Given the description of an element on the screen output the (x, y) to click on. 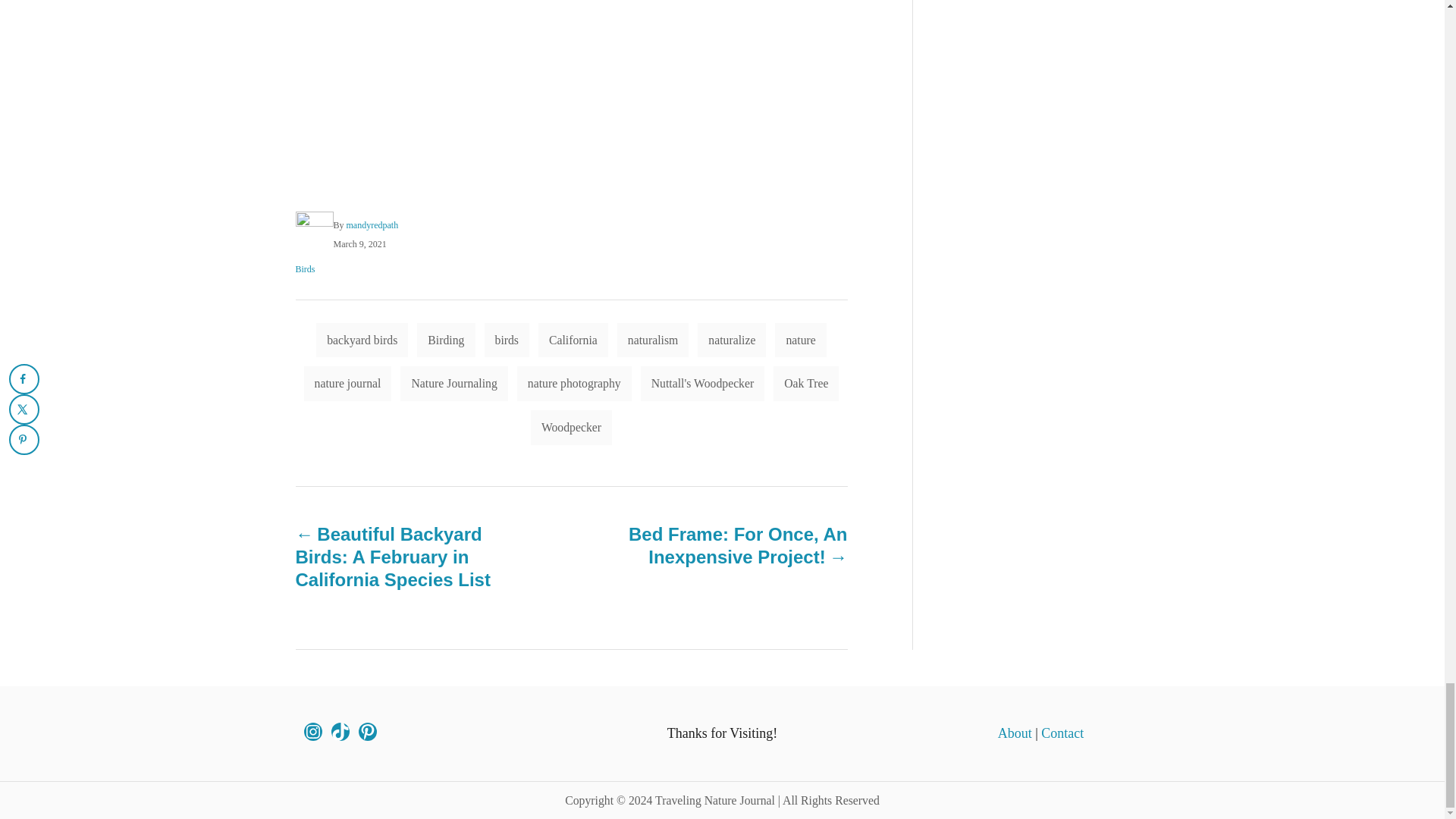
Woodpecker (571, 427)
Birding (445, 339)
birds (506, 339)
Nuttall's Woodpecker (702, 383)
Nature Journaling (453, 383)
naturalize (731, 339)
nature (799, 339)
California (573, 339)
Birds (305, 268)
naturalism (652, 339)
